Given the description of an element on the screen output the (x, y) to click on. 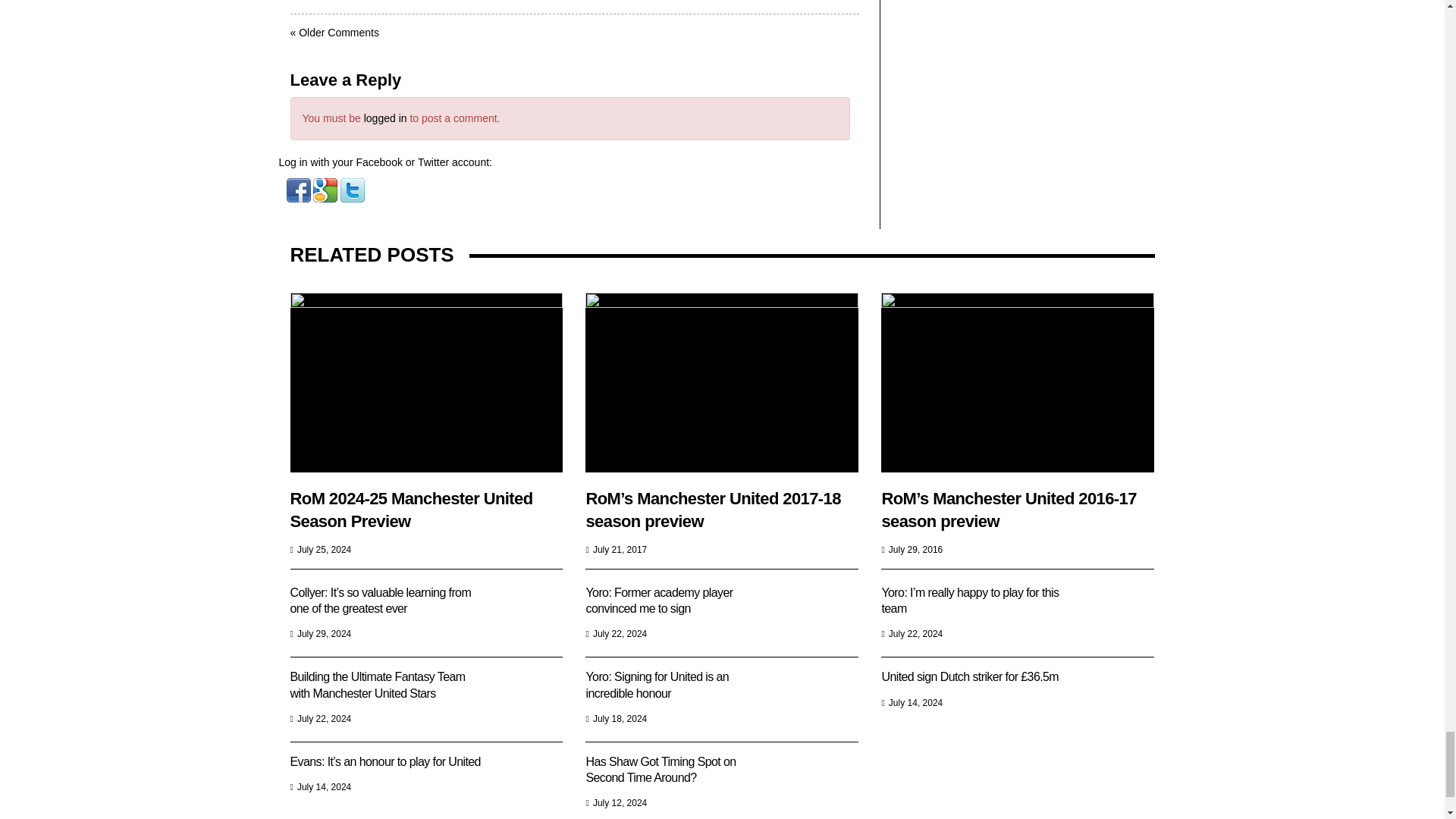
Connect with Twitter (352, 189)
Connect with Facebook (300, 189)
RoM 2024-25 Manchester United Season Preview (425, 382)
Connect with Google (326, 189)
